Given the description of an element on the screen output the (x, y) to click on. 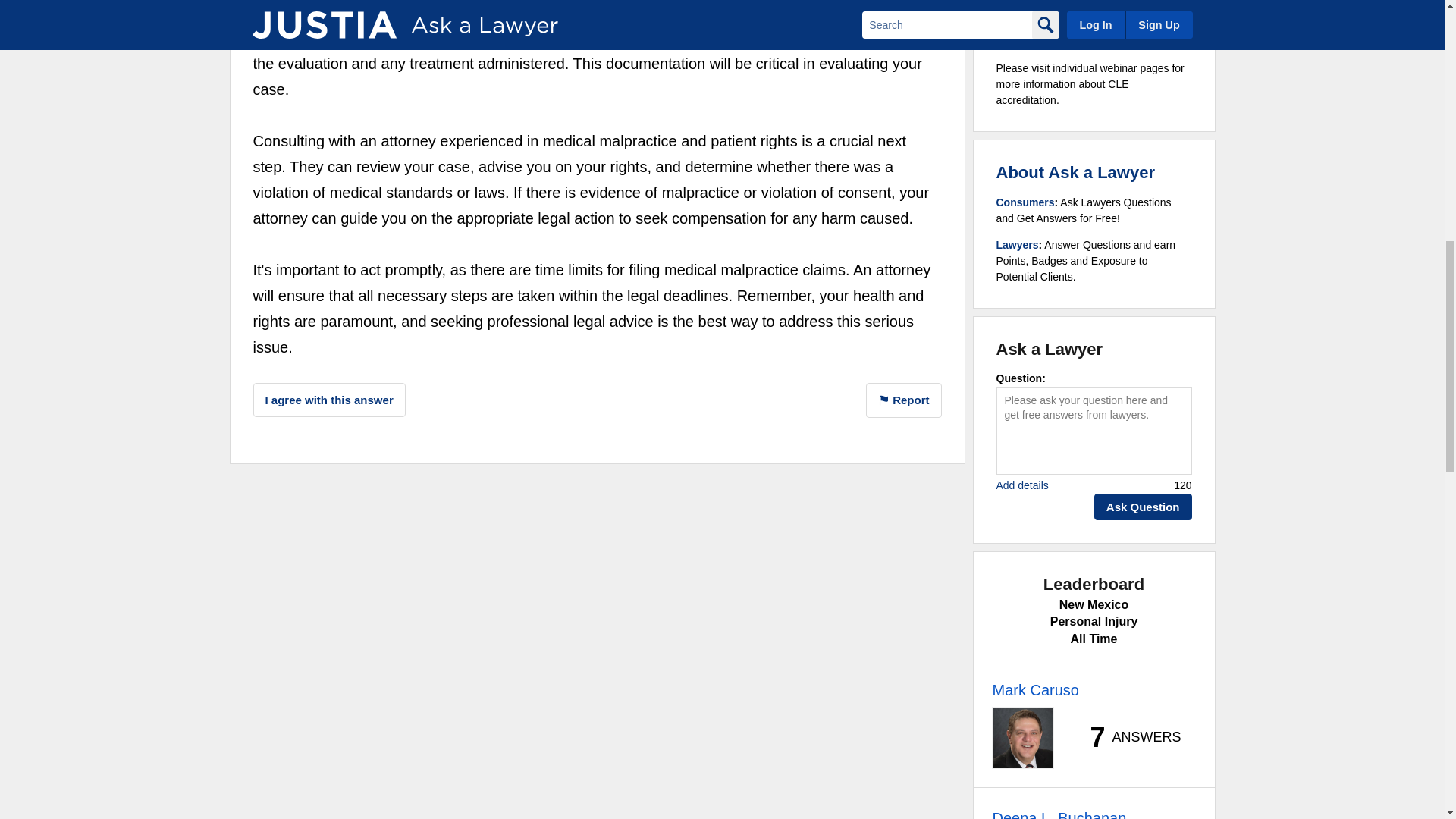
Ask a Lawyer - Leaderboard - Lawyer Photo (1021, 737)
Ask a Lawyer - Leaderboard - Lawyer Stats (1127, 737)
Ask a Lawyer - Leaderboard - Lawyer Name (1058, 812)
Ask a Lawyer - Leaderboard - Lawyer Name (1034, 689)
Ask a Lawyer - FAQs - Lawyers (1017, 244)
Ask a Lawyer - FAQs - Consumers (1024, 202)
